Given the description of an element on the screen output the (x, y) to click on. 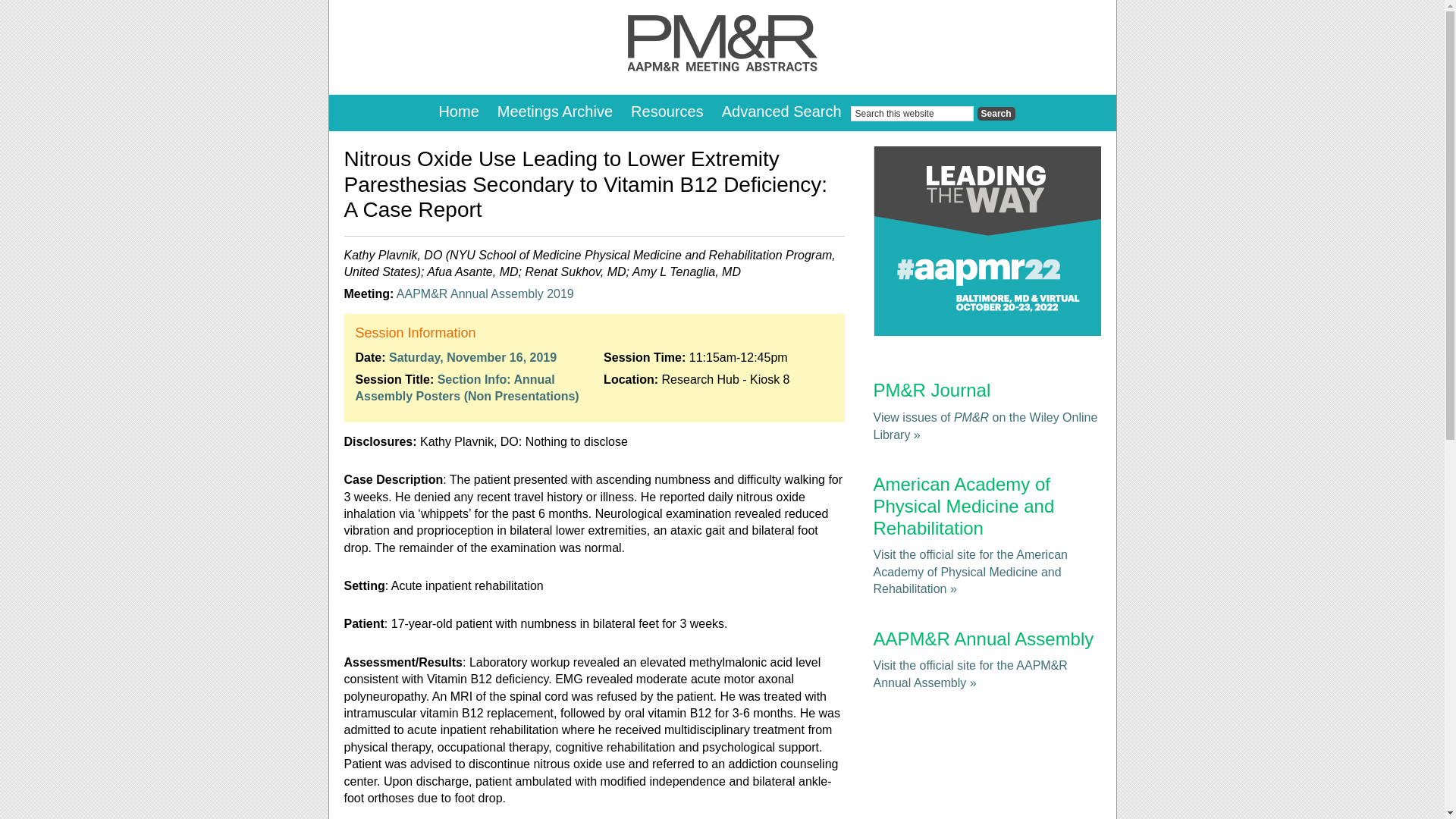
Advanced Search (781, 113)
Resources (667, 113)
Home (458, 113)
Meetings Archive (554, 113)
Search (995, 113)
Search (995, 113)
Search (995, 113)
Saturday, November 16, 2019 (472, 357)
